Given the description of an element on the screen output the (x, y) to click on. 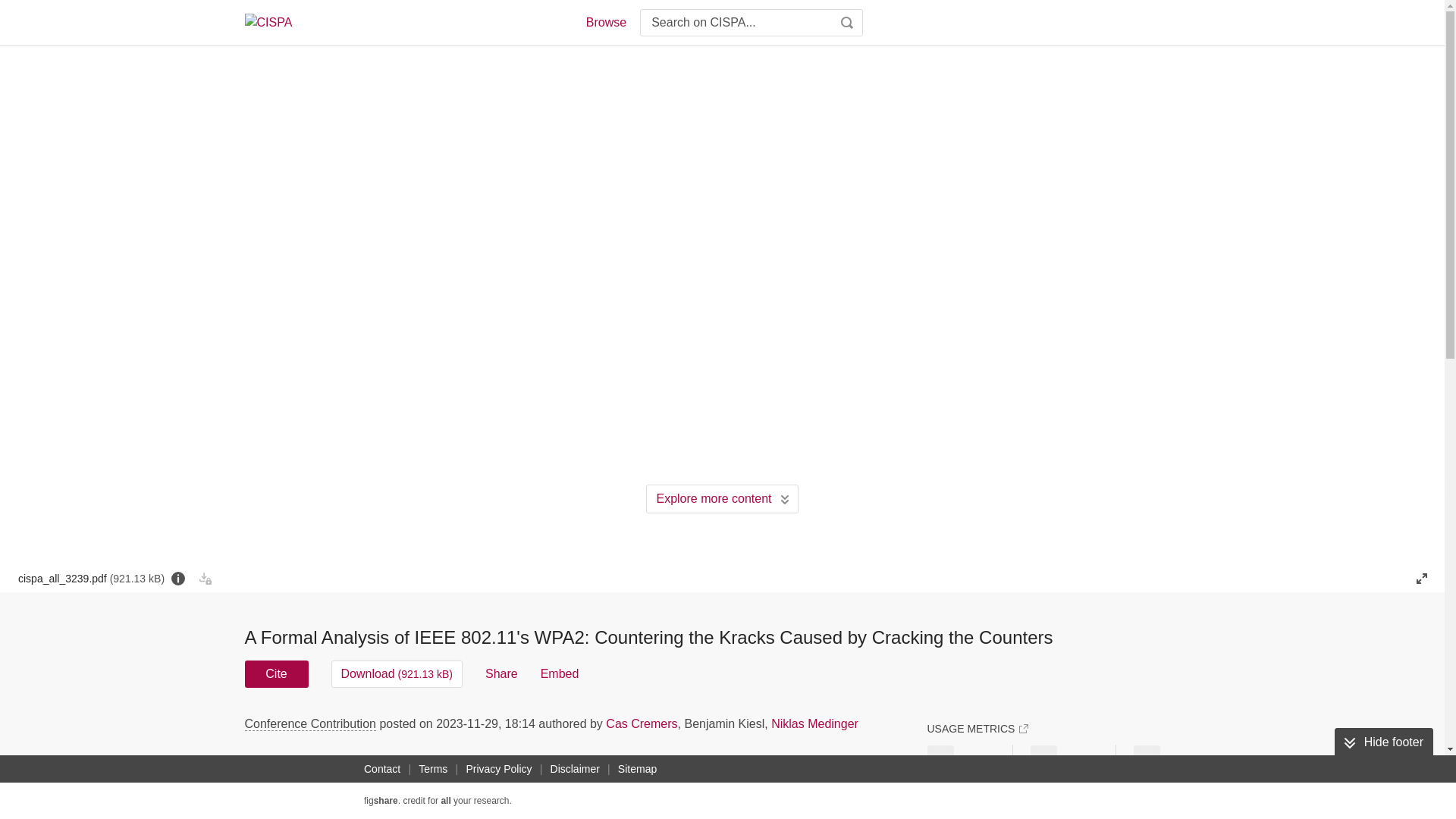
Cite (275, 673)
Browse (605, 22)
Cas Cremers (641, 723)
Privacy Policy (498, 769)
Contact (381, 769)
Share (501, 673)
Terms (432, 769)
USAGE METRICS (976, 728)
Niklas Medinger (815, 723)
Embed (559, 673)
Sitemap (636, 769)
Explore more content (721, 498)
Disclaimer (575, 769)
Hide footer (1383, 742)
